Given the description of an element on the screen output the (x, y) to click on. 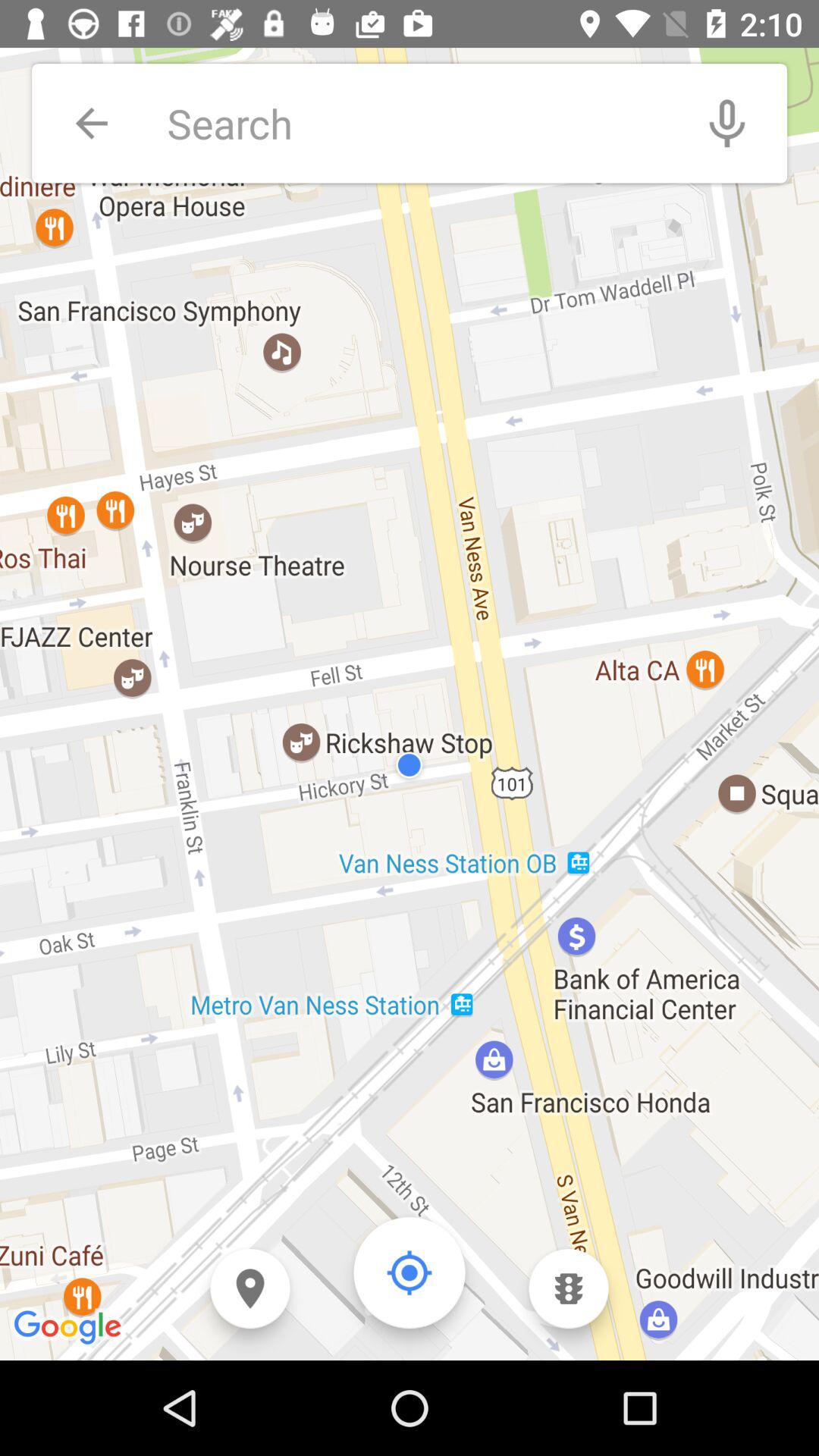
location search (417, 123)
